Given the description of an element on the screen output the (x, y) to click on. 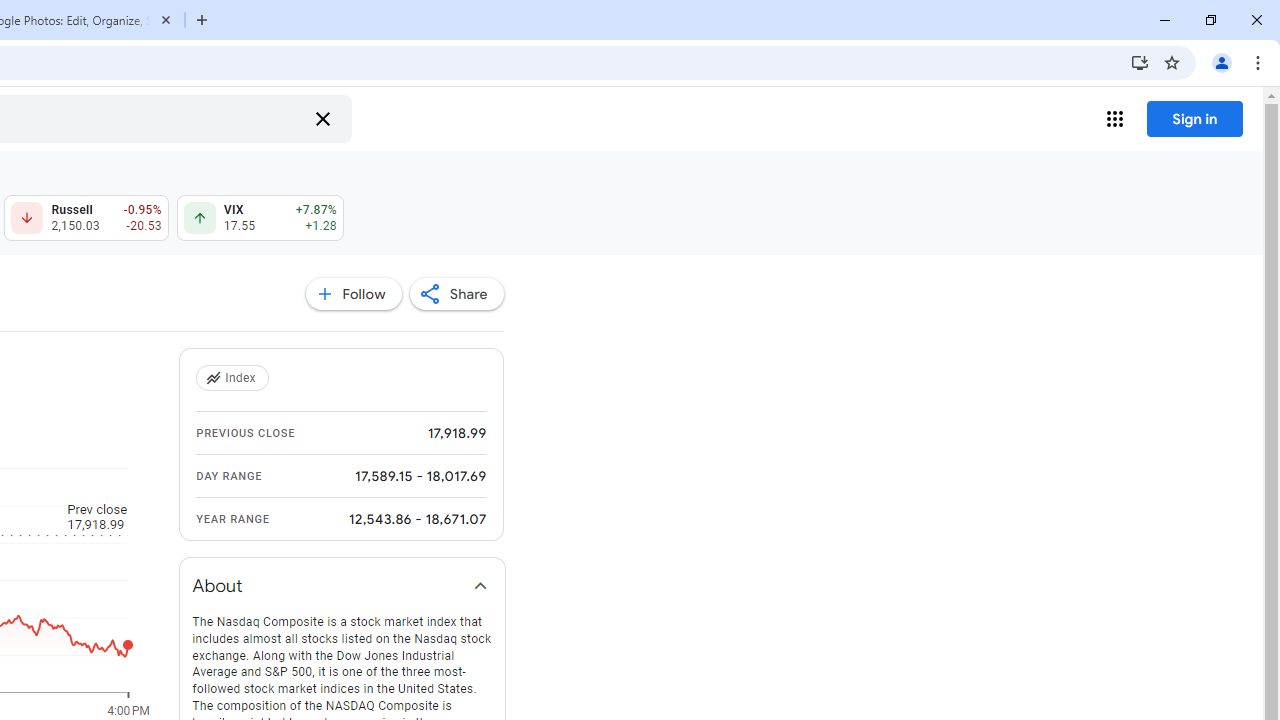
Russell 2,150.03 Down by 0.95% -20.53 (85, 218)
About (342, 586)
Install Google Finance (1139, 62)
Index (233, 377)
Follow (353, 293)
Clear search (322, 118)
Share (456, 293)
